Given the description of an element on the screen output the (x, y) to click on. 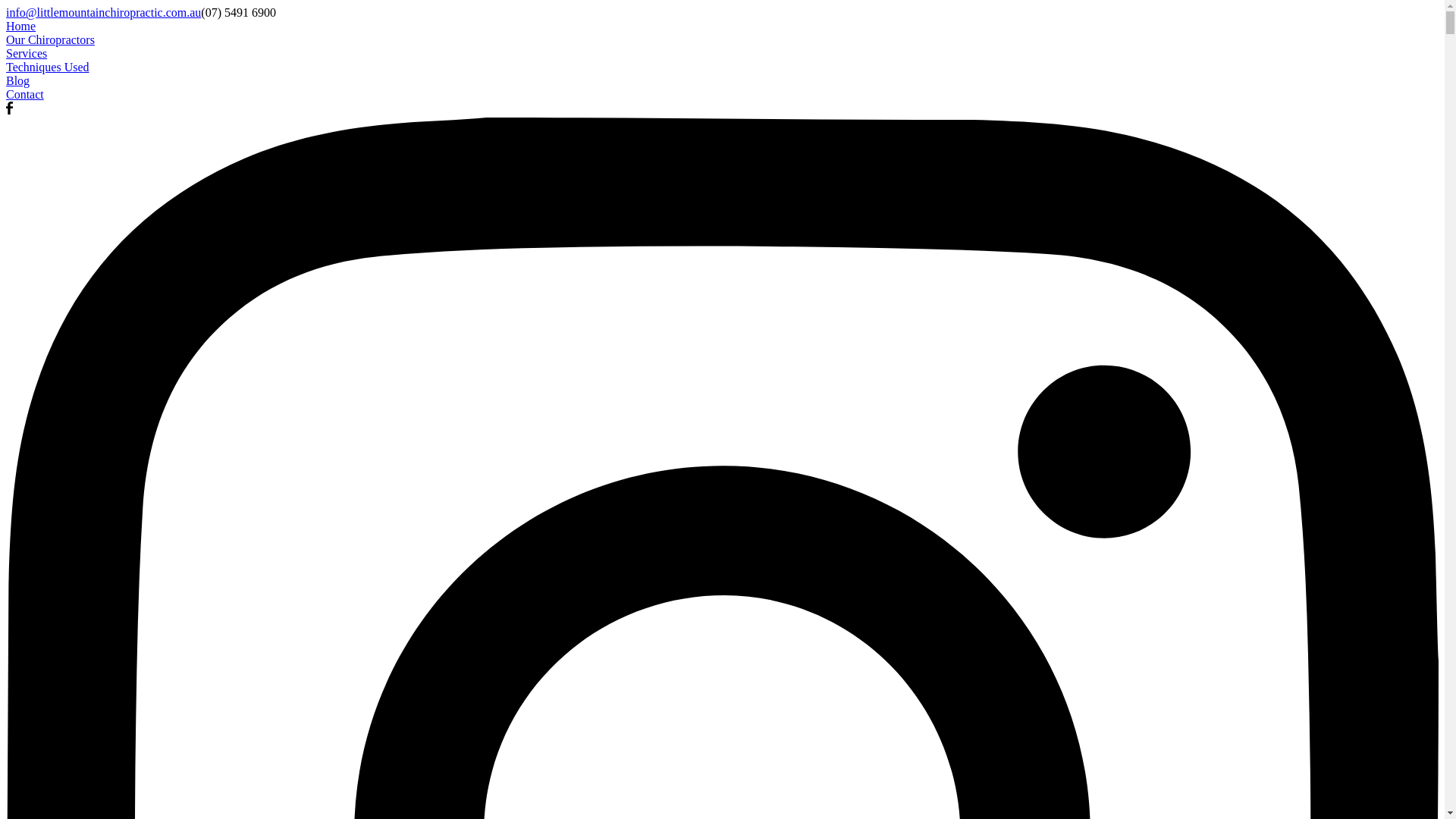
Our Chiropractors Element type: text (722, 40)
Techniques Used Element type: text (722, 67)
A link to this website's Facebook. Element type: hover (9, 109)
info@littlemountainchiropractic.com.au Element type: text (103, 12)
Services Element type: text (722, 53)
Contact Element type: text (722, 94)
Blog Element type: text (722, 80)
Home Element type: text (722, 26)
